Given the description of an element on the screen output the (x, y) to click on. 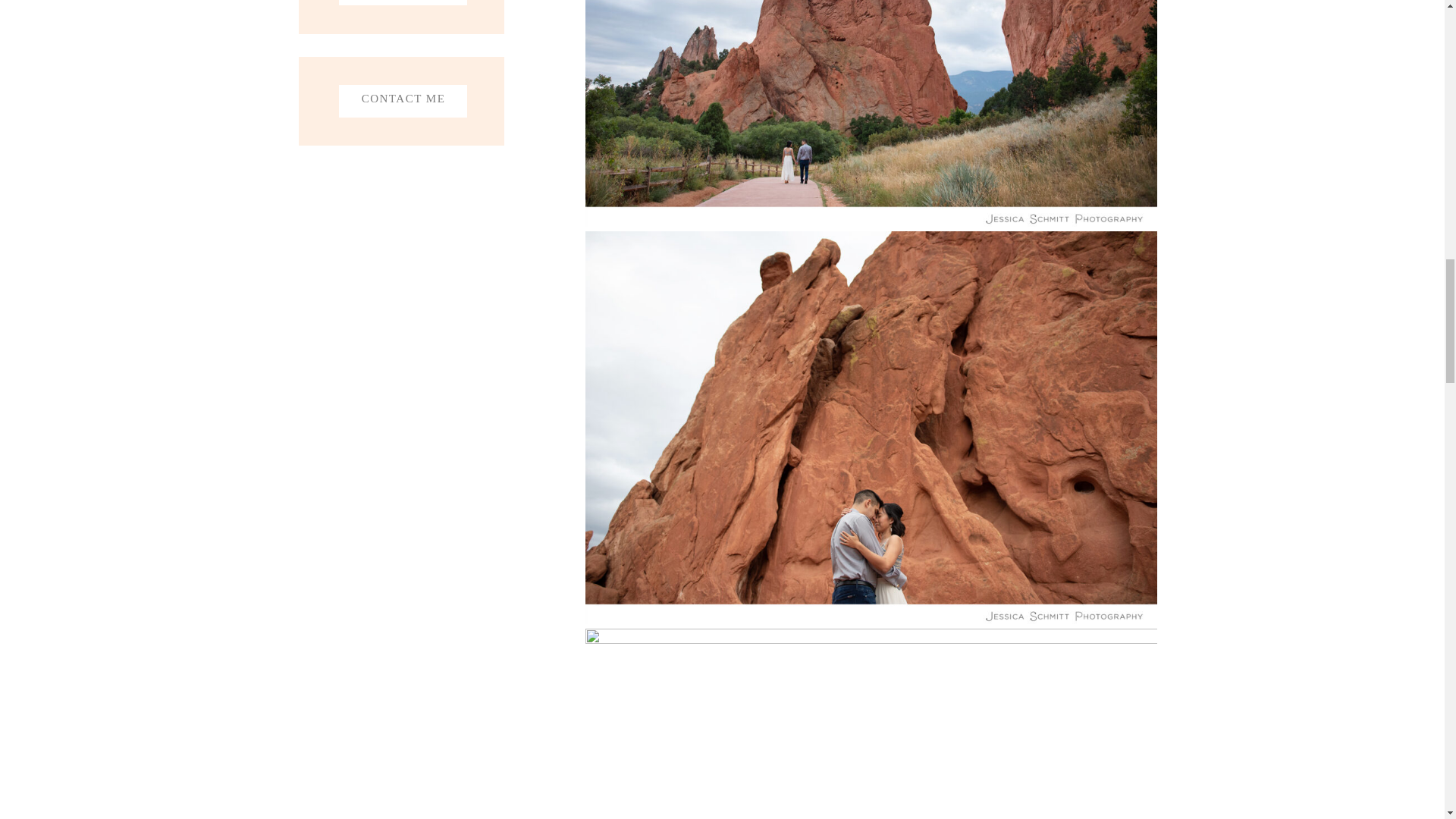
SPECIAL FEATURES (402, 2)
CONTACT ME (402, 101)
